Given the description of an element on the screen output the (x, y) to click on. 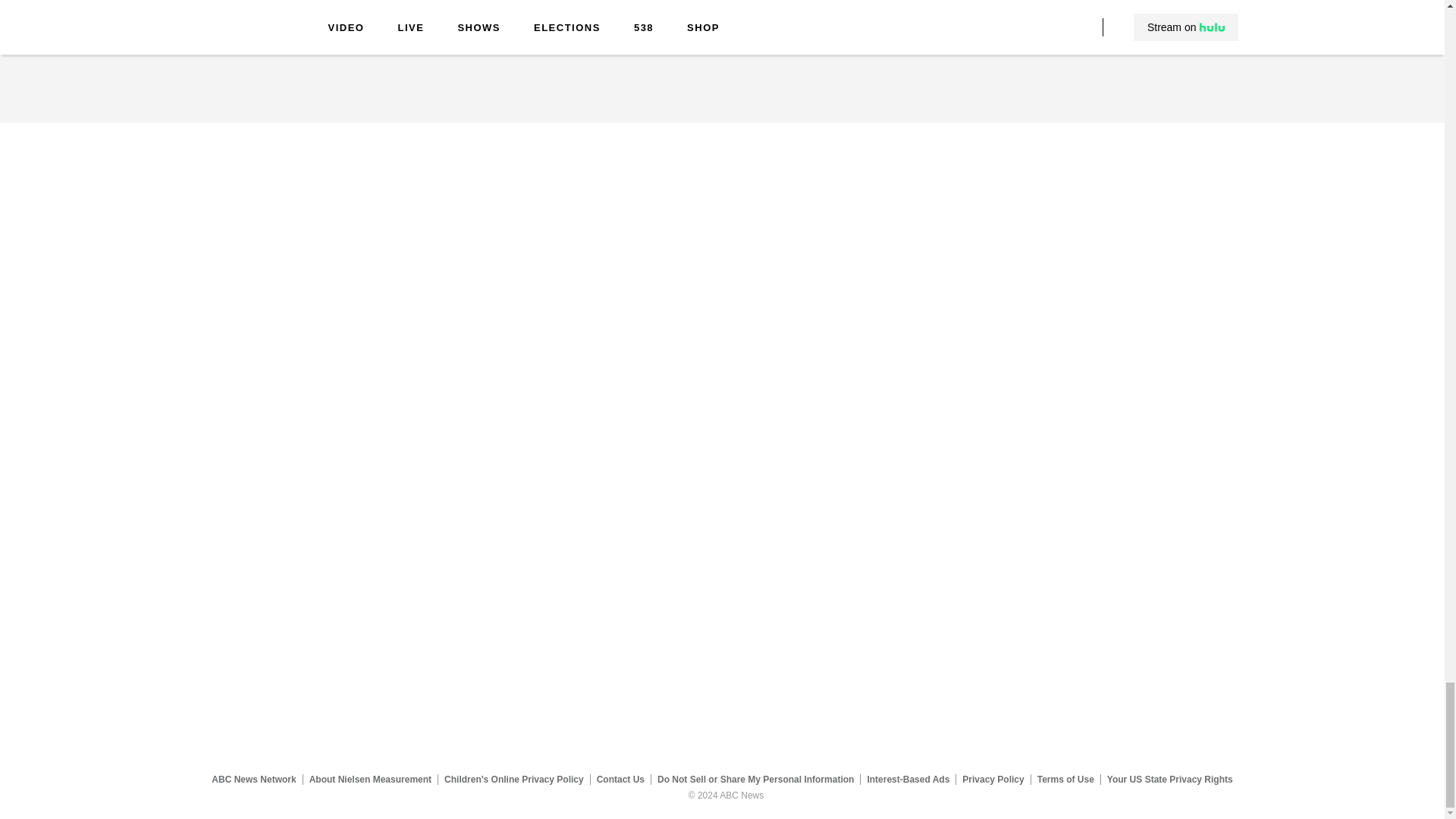
About Nielsen Measurement (370, 778)
Children's Online Privacy Policy (514, 778)
Interest-Based Ads (908, 778)
ABC News Network (253, 778)
Do Not Sell or Share My Personal Information (755, 778)
Privacy Policy (993, 778)
Contact Us (620, 778)
Terms of Use (1065, 778)
